Given the description of an element on the screen output the (x, y) to click on. 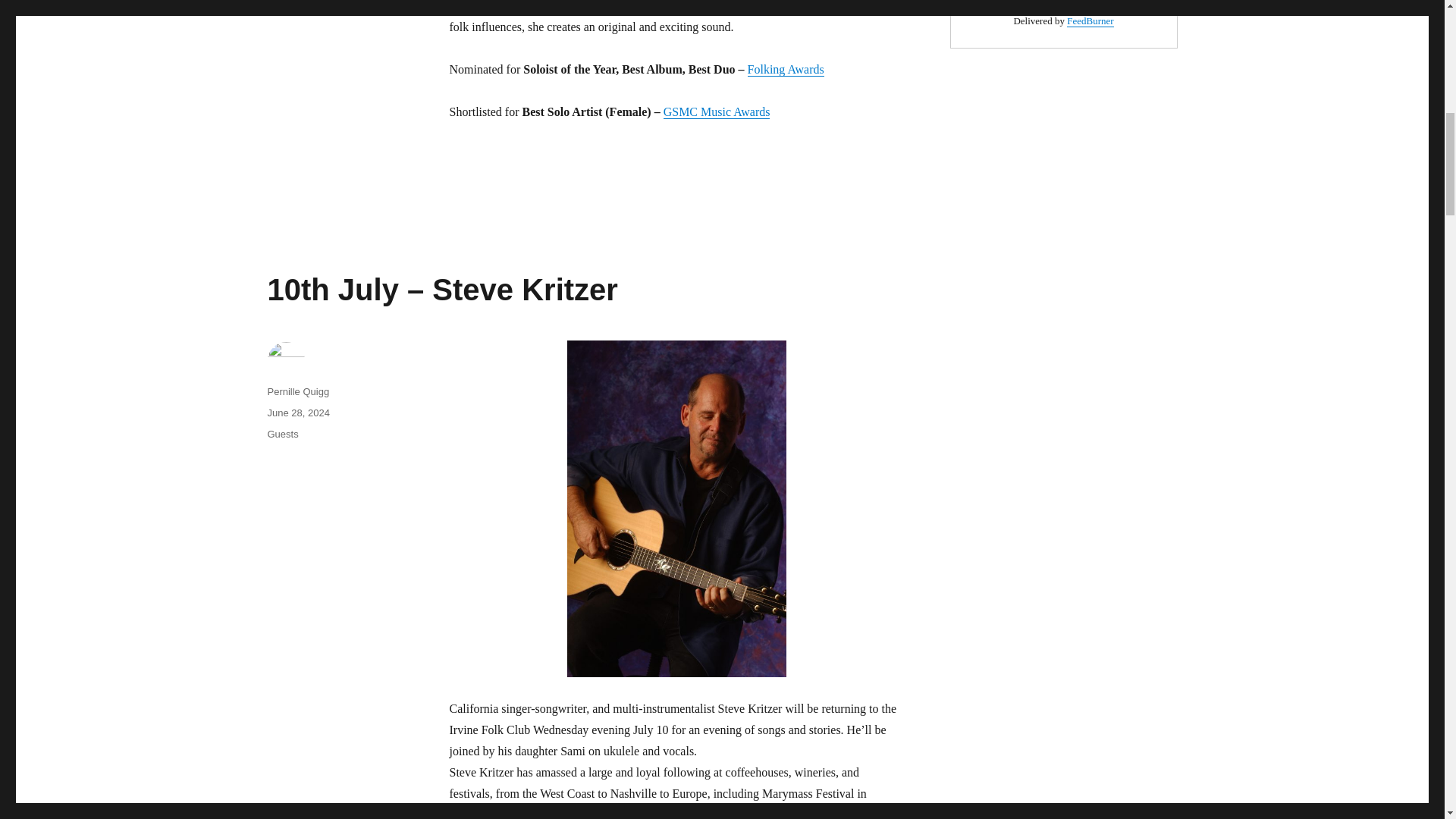
Pernille Quigg (297, 391)
Guests (282, 433)
Folking Awards (786, 69)
GSMC Music Awards (716, 111)
Subscribe (1062, 6)
June 28, 2024 (297, 412)
